Given the description of an element on the screen output the (x, y) to click on. 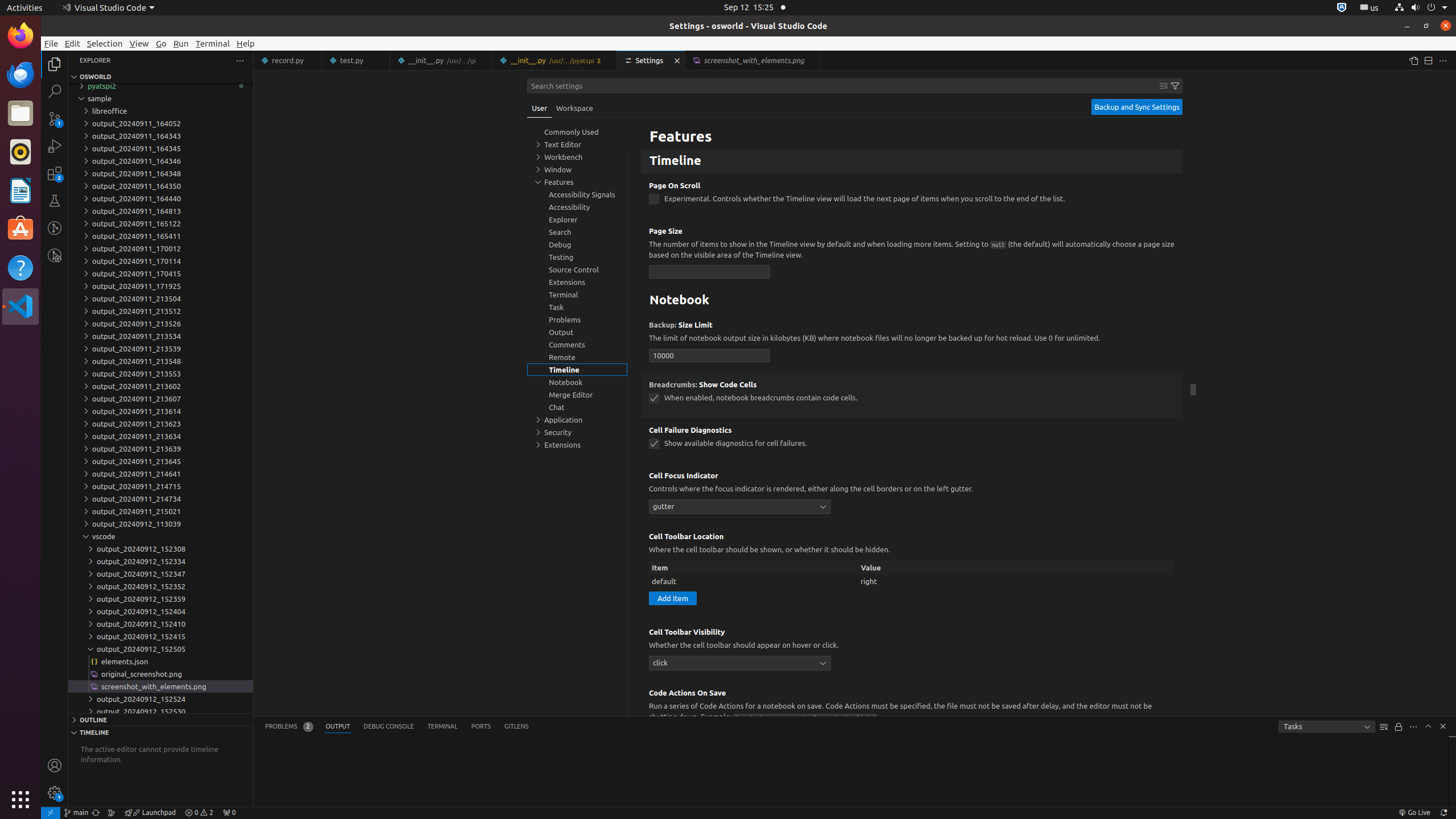
Manage - New Code update available. Element type: push-button (54, 792)
Split Editor Right (Ctrl+\) [Alt] Split Editor Down Element type: push-button (1427, 60)
Task, group Element type: tree-item (577, 306)
OSWorld (Git) - main, Checkout Branch/Tag... Element type: push-button (75, 812)
